Given the description of an element on the screen output the (x, y) to click on. 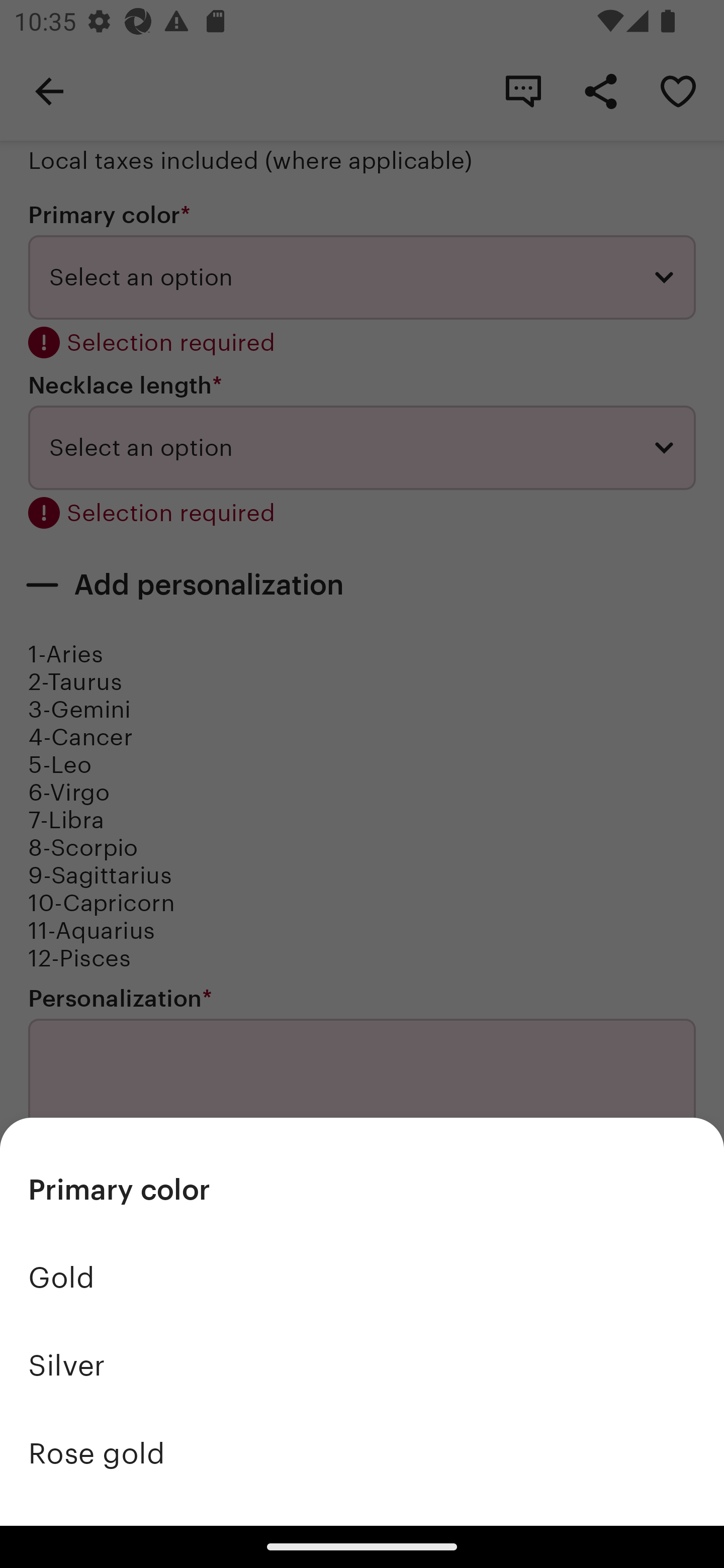
Gold (362, 1277)
Silver (362, 1365)
Rose gold (362, 1453)
